Given the description of an element on the screen output the (x, y) to click on. 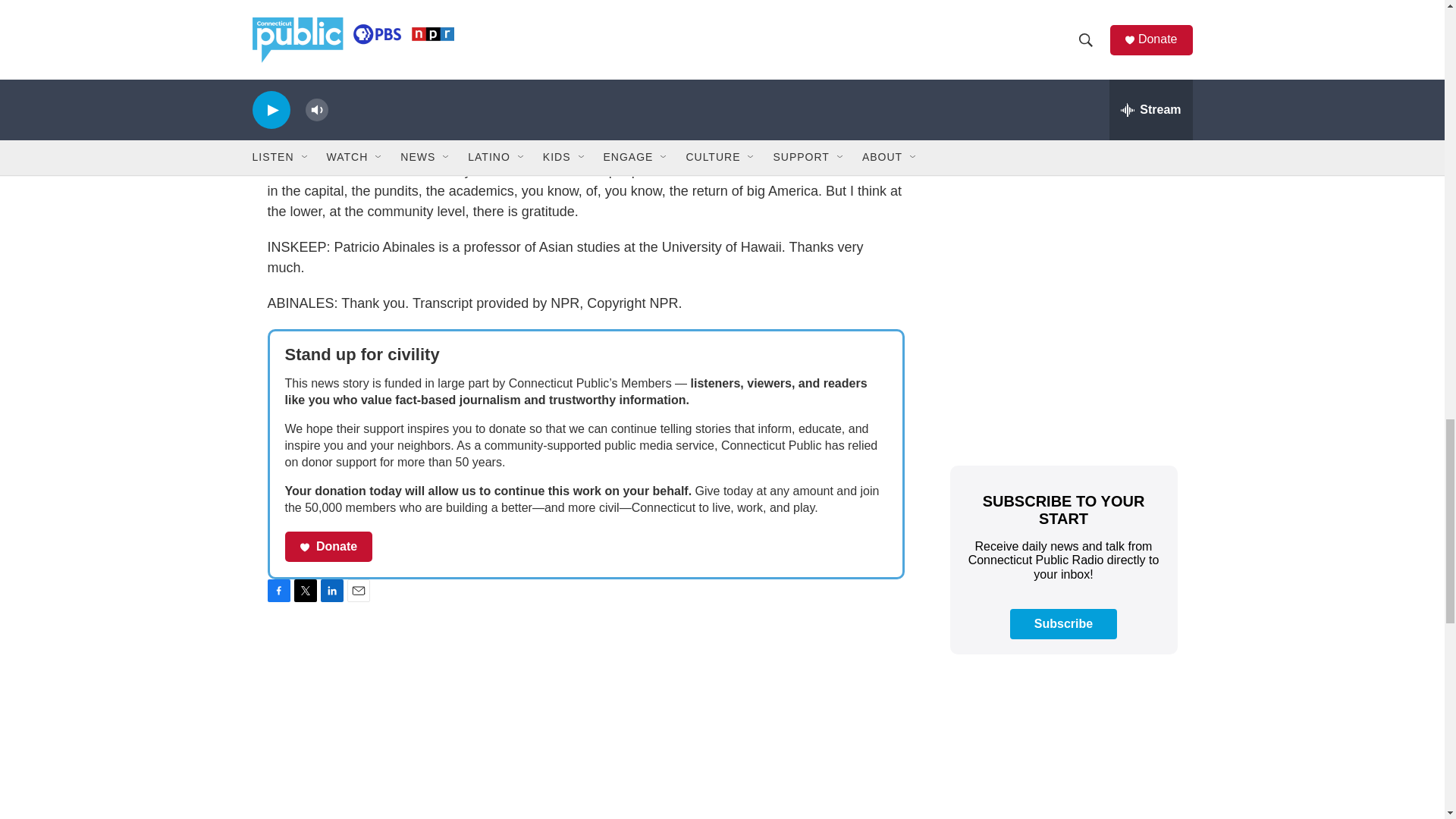
3rd party ad content (1062, 751)
3rd party ad content (1062, 339)
3rd party ad content (1062, 120)
